Given the description of an element on the screen output the (x, y) to click on. 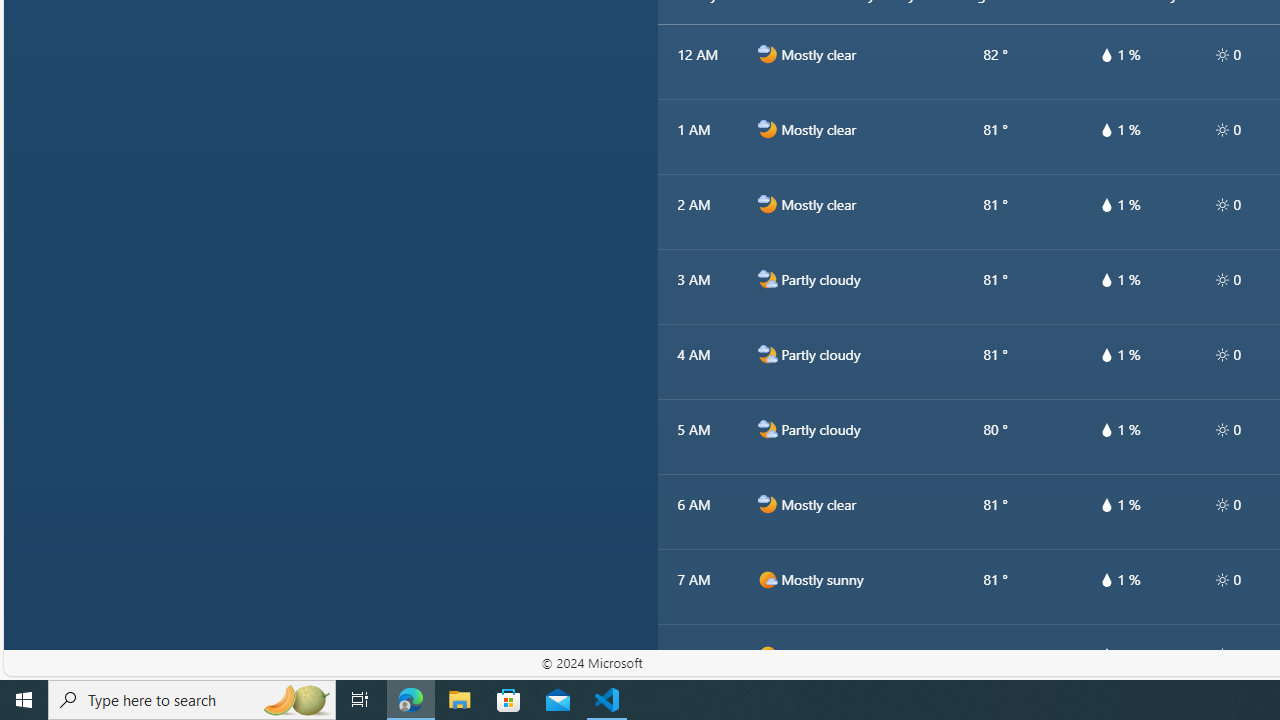
n2000 (767, 429)
n1000 (767, 504)
hourlyTable/uv (1222, 654)
hourlyTable/drop (1106, 654)
d1000 (767, 655)
